Given the description of an element on the screen output the (x, y) to click on. 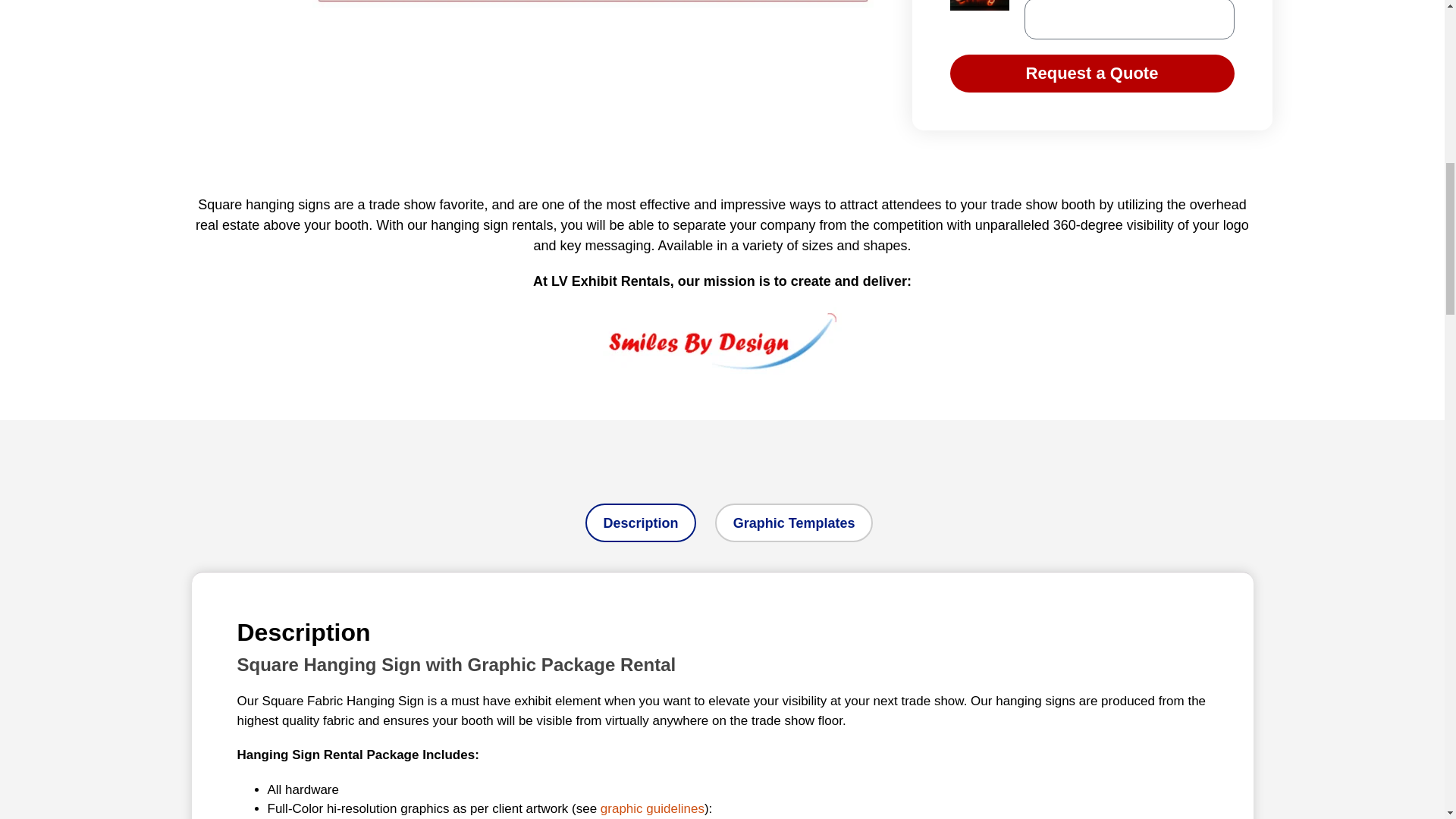
Quad Hanging Sign - LV Exhibit Rentals in Las Vegas (593, 3)
